Given the description of an element on the screen output the (x, y) to click on. 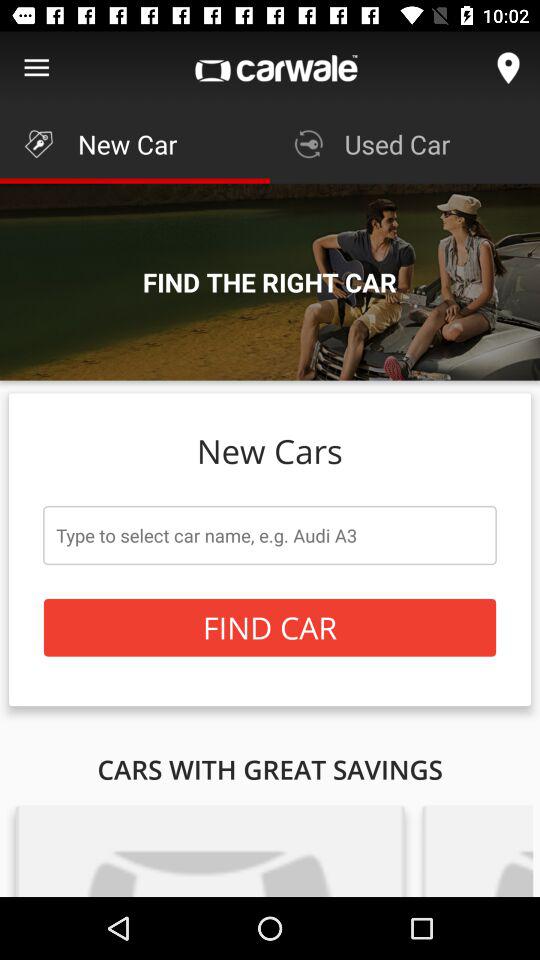
turn on the item above find car item (269, 535)
